Given the description of an element on the screen output the (x, y) to click on. 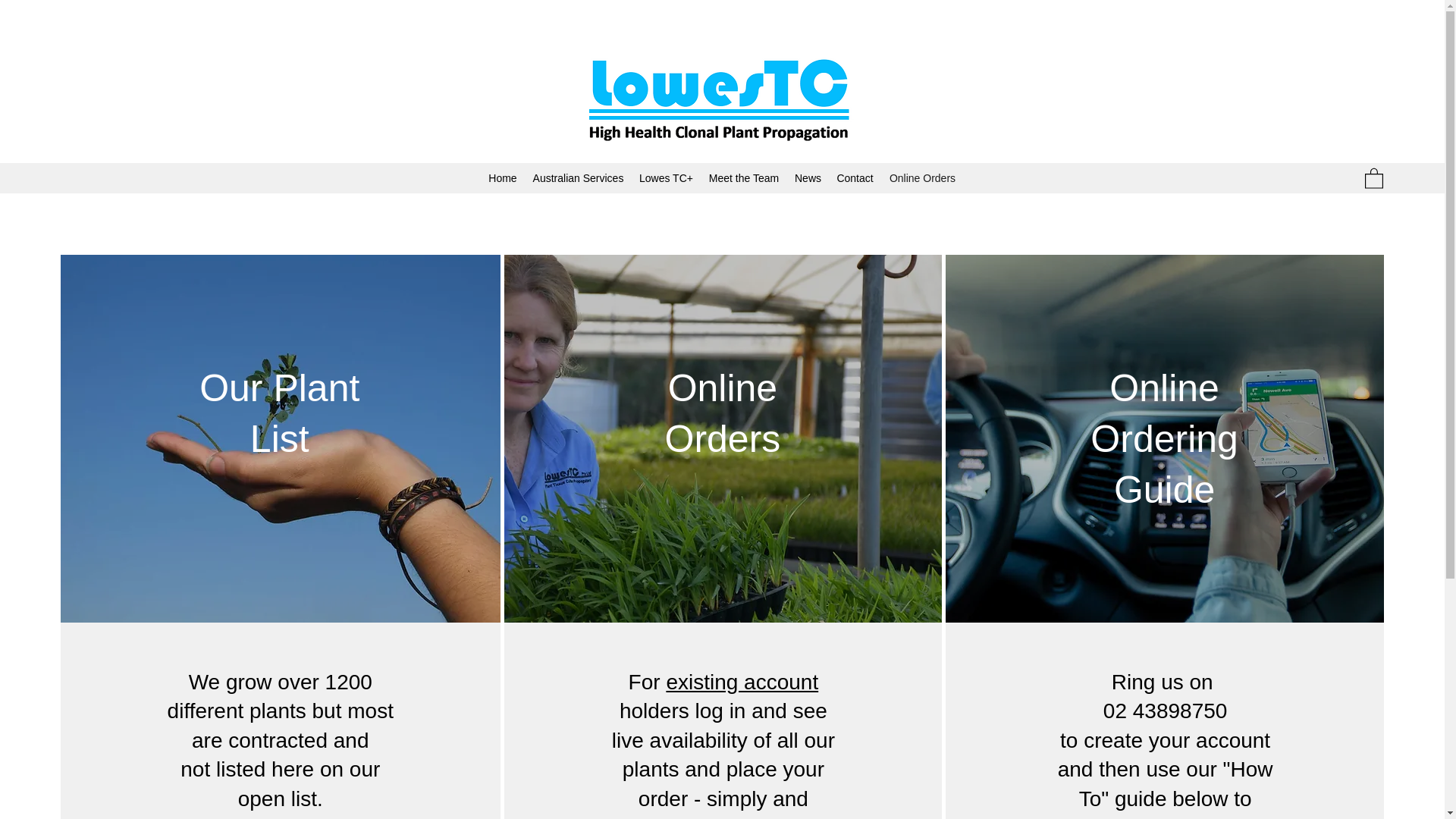
Online Orders (921, 178)
News (807, 178)
Meet the Team (743, 178)
Contact (854, 178)
Home (502, 178)
Australian Services (577, 178)
